Given the description of an element on the screen output the (x, y) to click on. 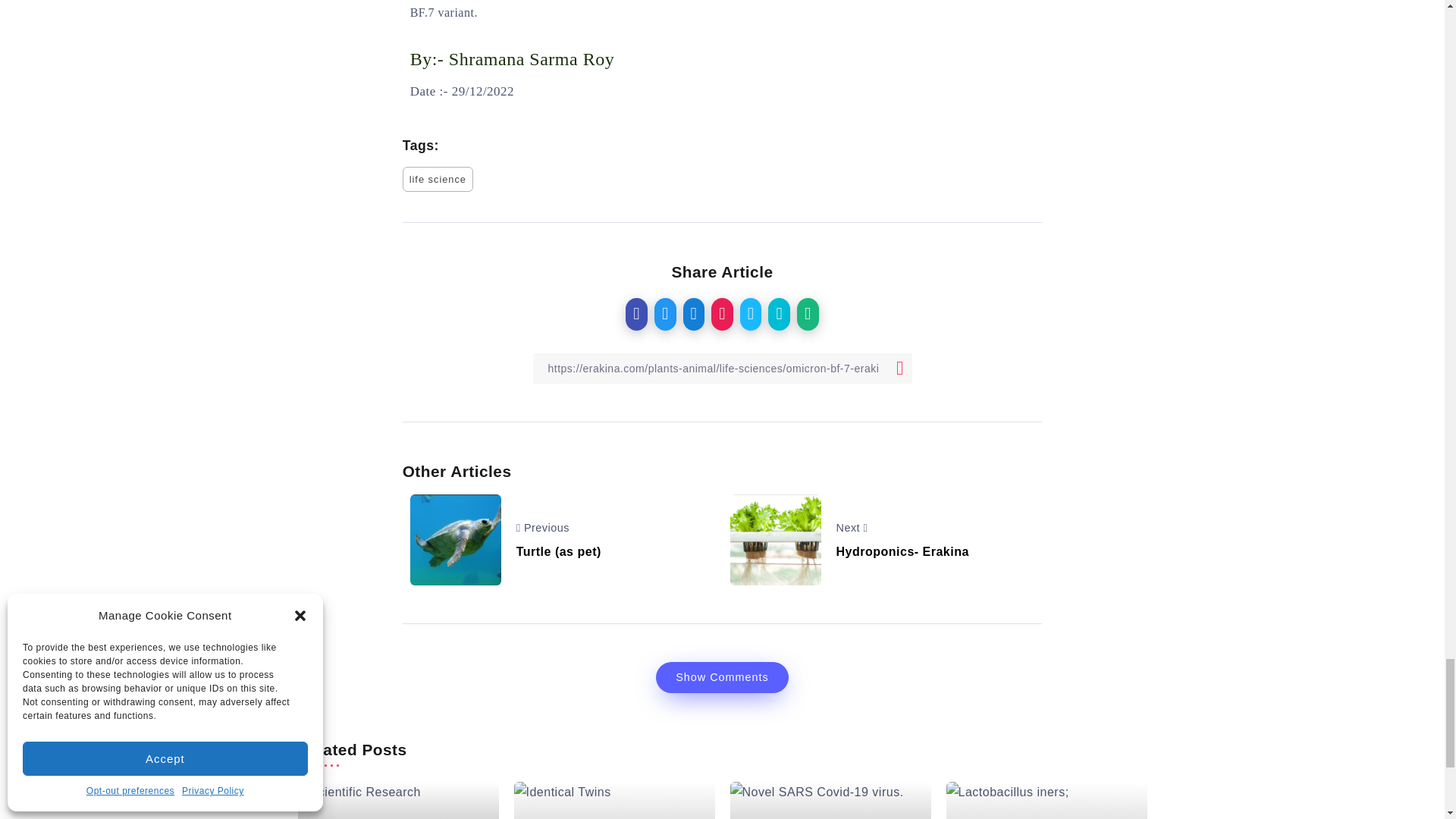
Omicron BF.7- Erakina (775, 539)
Omicron BF.7- Erakina (455, 539)
